Given the description of an element on the screen output the (x, y) to click on. 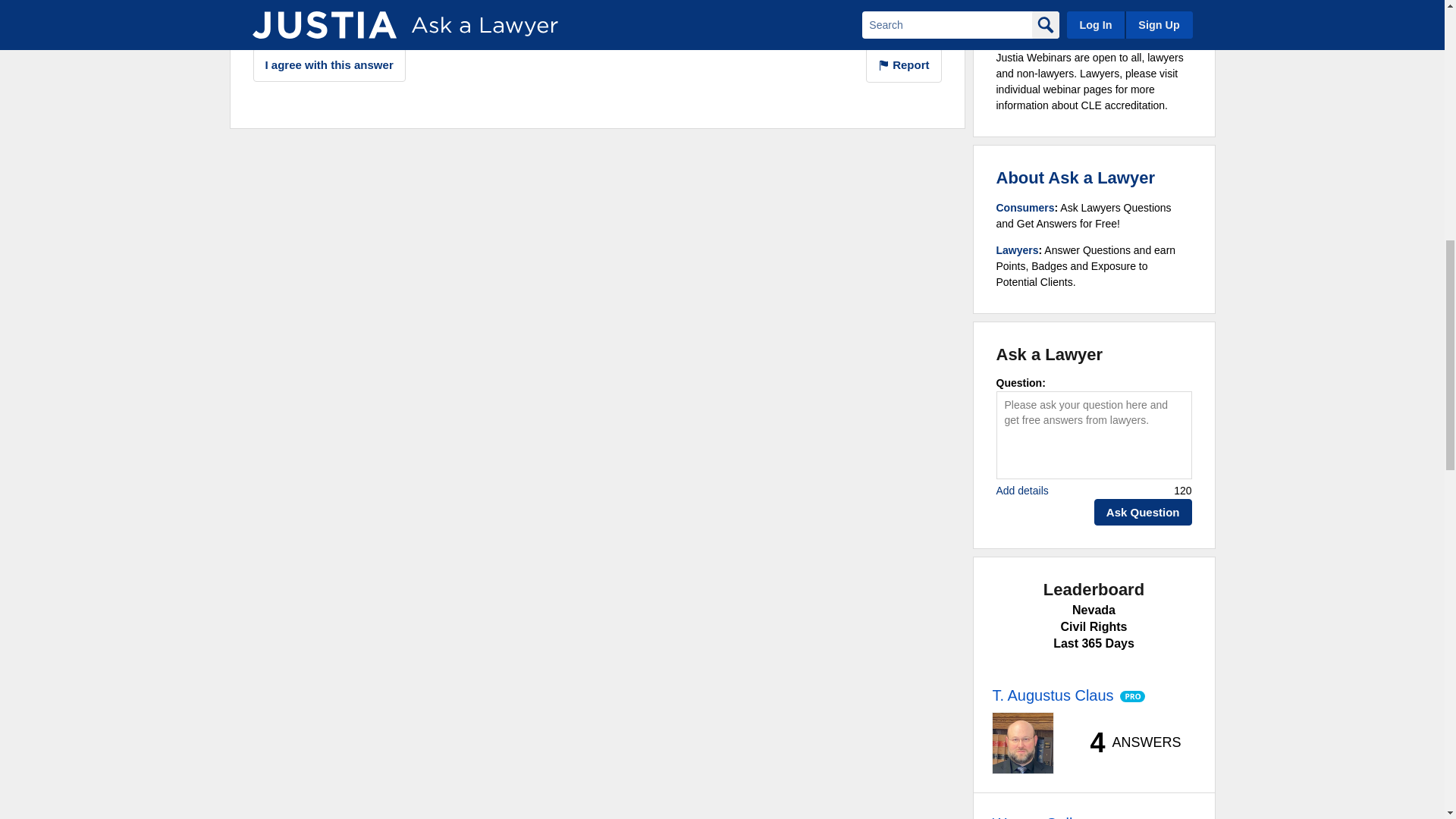
Ask a Lawyer - Leaderboard - Lawyer Name (1052, 694)
Ask a Lawyer - Leaderboard - Lawyer Name (1038, 815)
Ask a Lawyer - FAQs - Consumers (1024, 207)
Ask a Lawyer - FAQs - Lawyers (1017, 250)
Ask a Lawyer - Leaderboard - Lawyer Photo (1021, 742)
Ask a Lawyer - Leaderboard - Lawyer Stats (1127, 742)
